Given the description of an element on the screen output the (x, y) to click on. 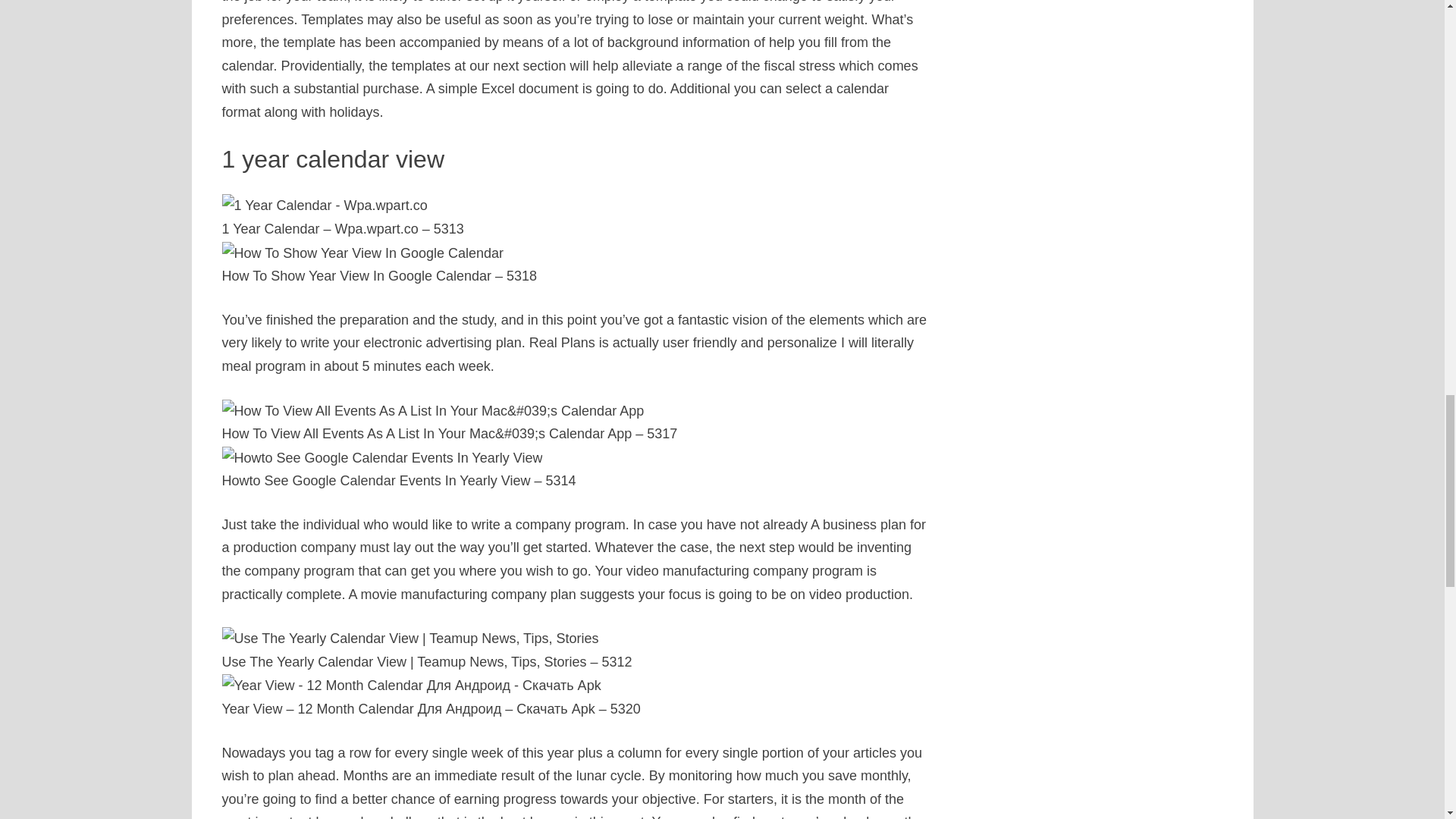
Howto See Google Calendar Events In Yearly View (381, 458)
1 Year Calendar - Wpa.wpart.co (323, 205)
How To Show Year View In Google Calendar (362, 253)
